Given the description of an element on the screen output the (x, y) to click on. 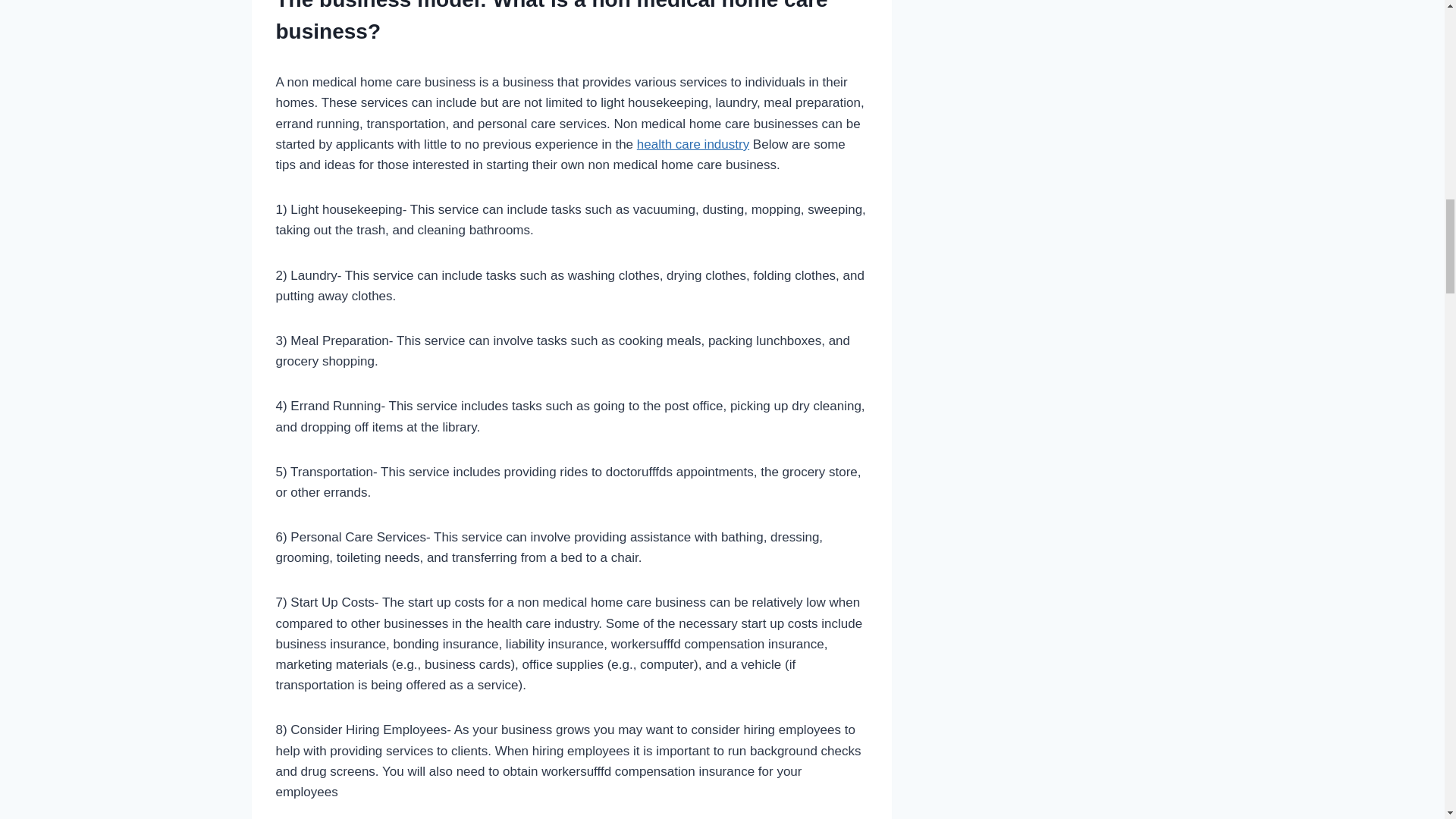
health care industry (693, 144)
